Given the description of an element on the screen output the (x, y) to click on. 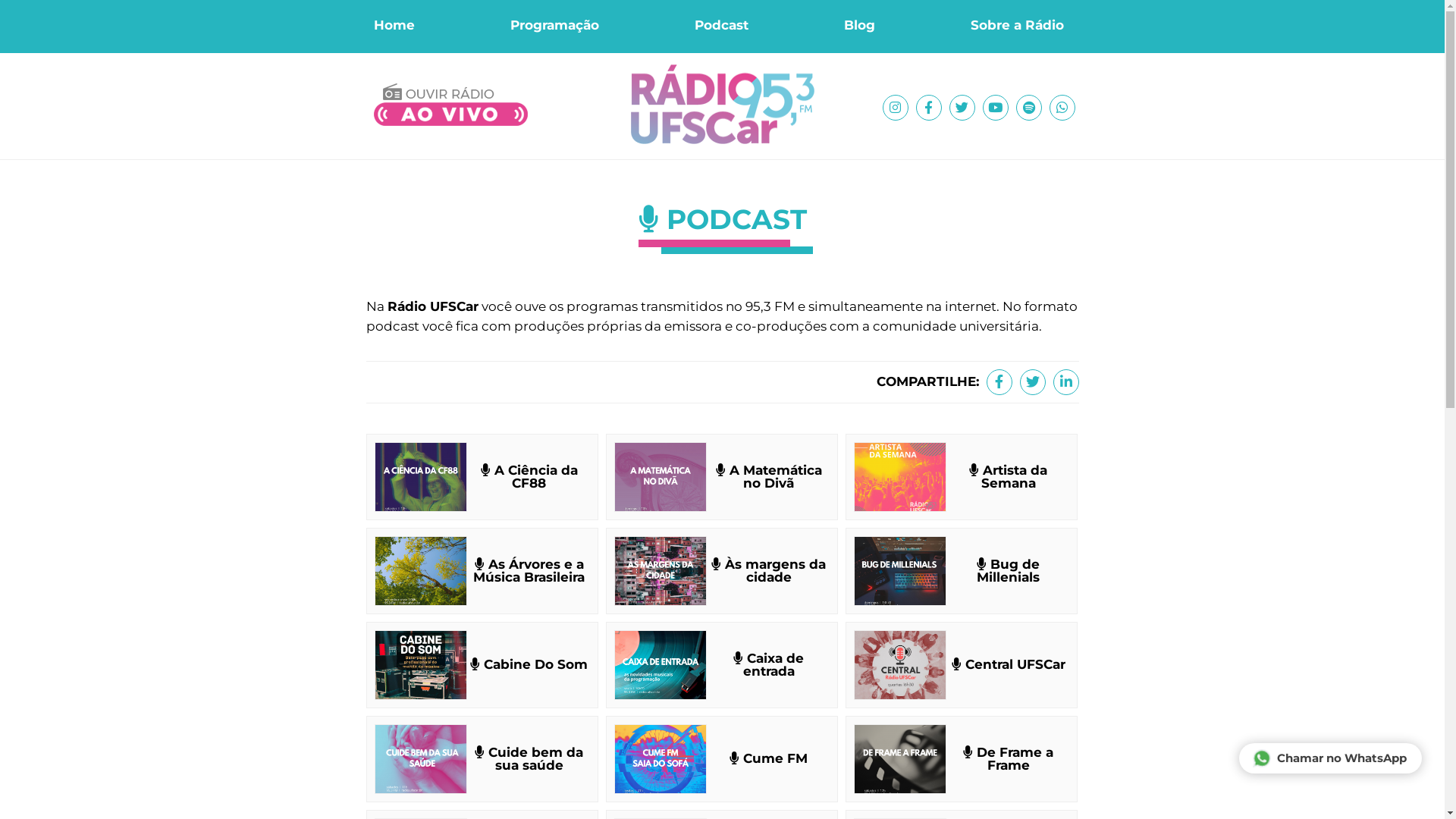
Facebook Element type: hover (998, 382)
Instagram Element type: hover (895, 107)
Podcast Element type: text (721, 25)
Facebook Element type: hover (928, 107)
Artista da Semana Element type: text (961, 476)
Cume FM Element type: text (721, 758)
De Frame a Frame Element type: text (961, 758)
Linkedin Element type: hover (1065, 382)
Chamar no WhatsApp Element type: hover (1259, 756)
Twitter Element type: hover (962, 107)
Blog Element type: text (858, 25)
Bug de Millenials Element type: text (961, 570)
Cabine Do Som Element type: text (481, 664)
Home Element type: text (393, 25)
Chamar no WhatsApp Element type: text (1330, 758)
Caixa de entrada Element type: text (721, 664)
WhatsApp Element type: hover (1062, 107)
Spotify Element type: hover (1028, 107)
Central UFSCar Element type: text (961, 664)
Twitter Element type: hover (1031, 382)
Youtube Element type: hover (995, 107)
